Given the description of an element on the screen output the (x, y) to click on. 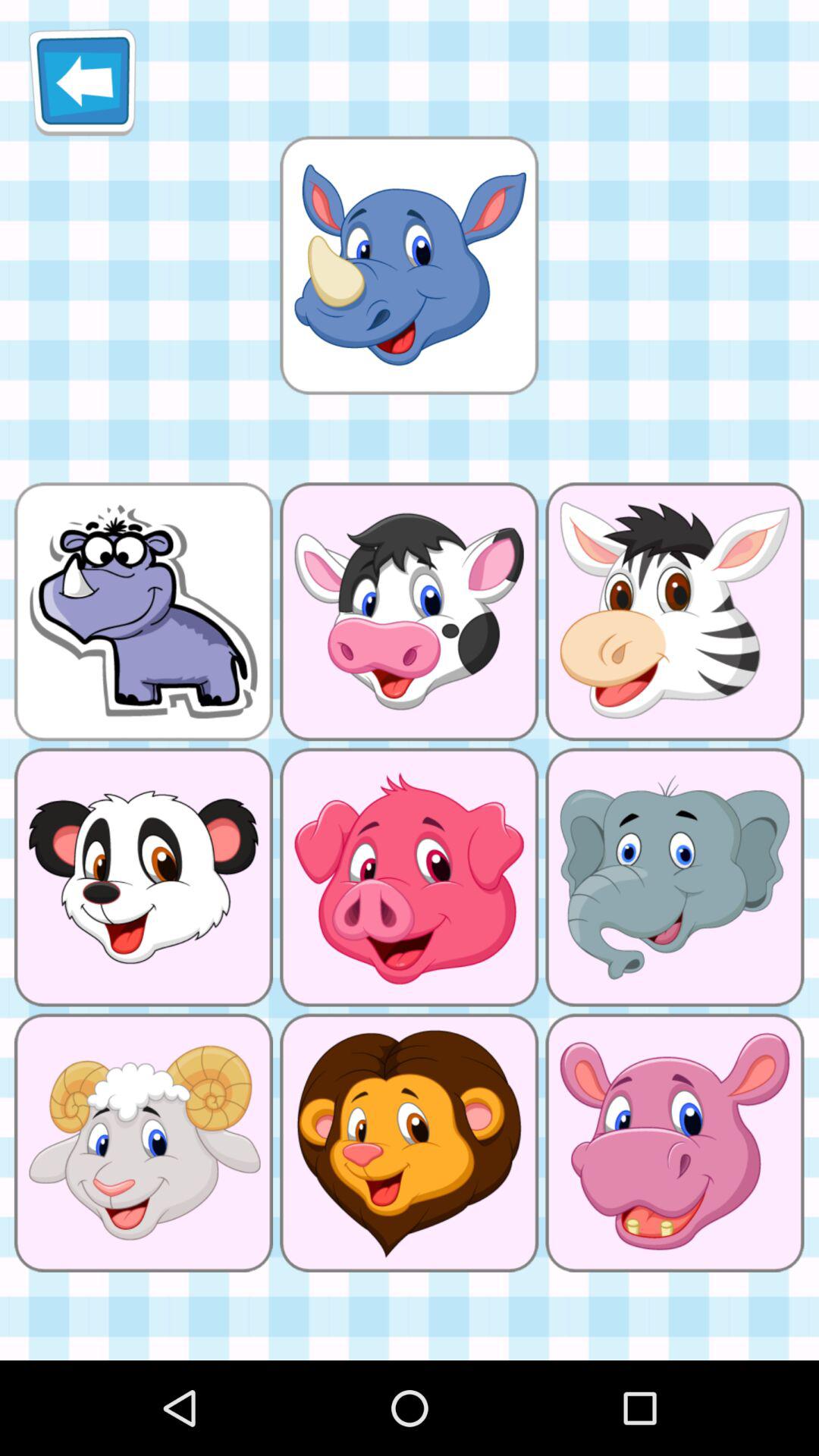
go back (82, 82)
